Given the description of an element on the screen output the (x, y) to click on. 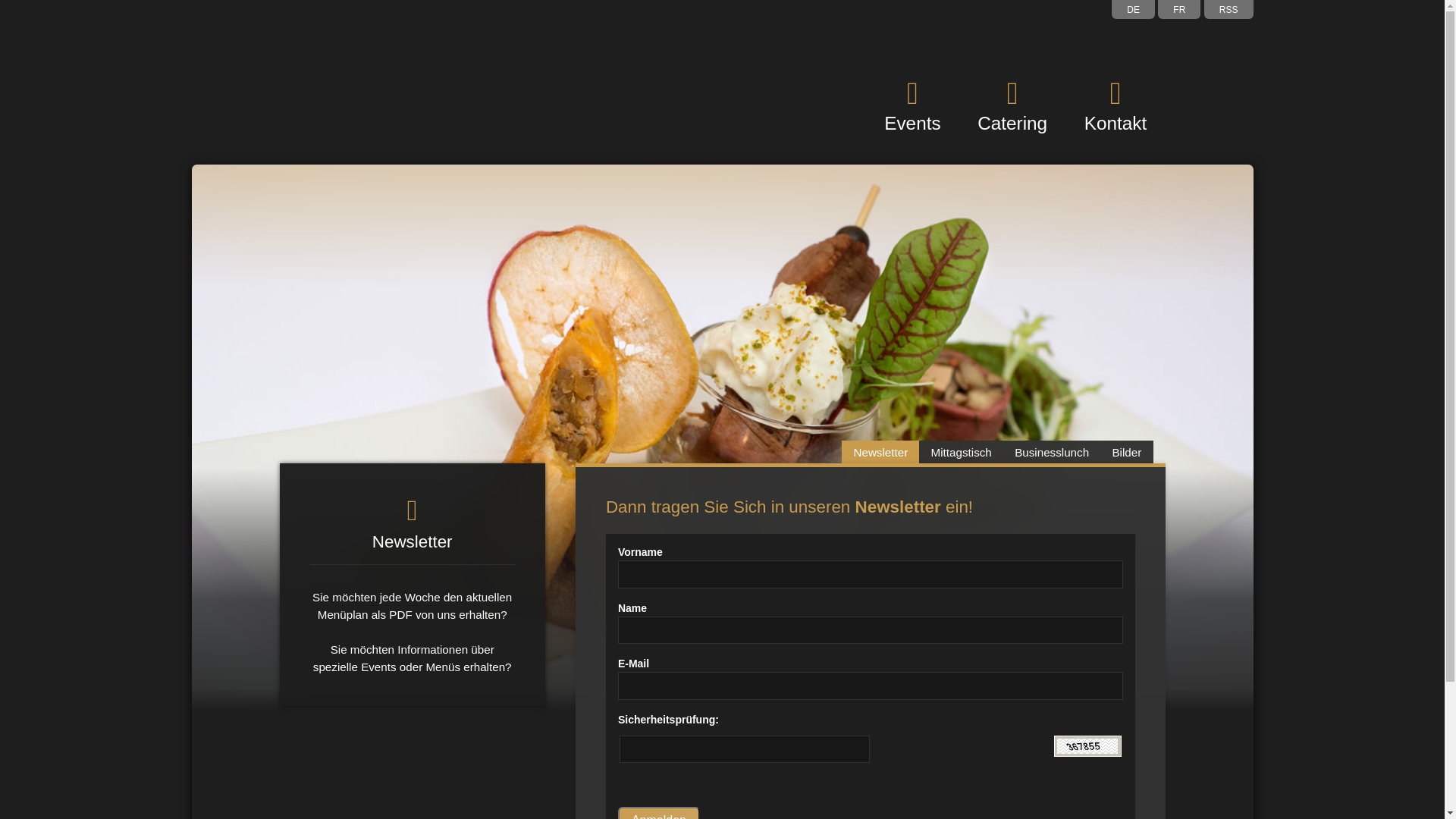
Businesslunch Element type: text (1051, 452)
Atelier - die Location Element type: text (385, 103)
Newsletter Element type: text (880, 452)
Kontakt Element type: text (1114, 106)
Events Element type: text (912, 106)
RSS Element type: text (1228, 9)
Bilder Element type: text (1126, 452)
Catering Element type: text (1012, 106)
FR Element type: text (1178, 9)
Mittagstisch Element type: text (961, 452)
DE Element type: text (1132, 9)
